Given the description of an element on the screen output the (x, y) to click on. 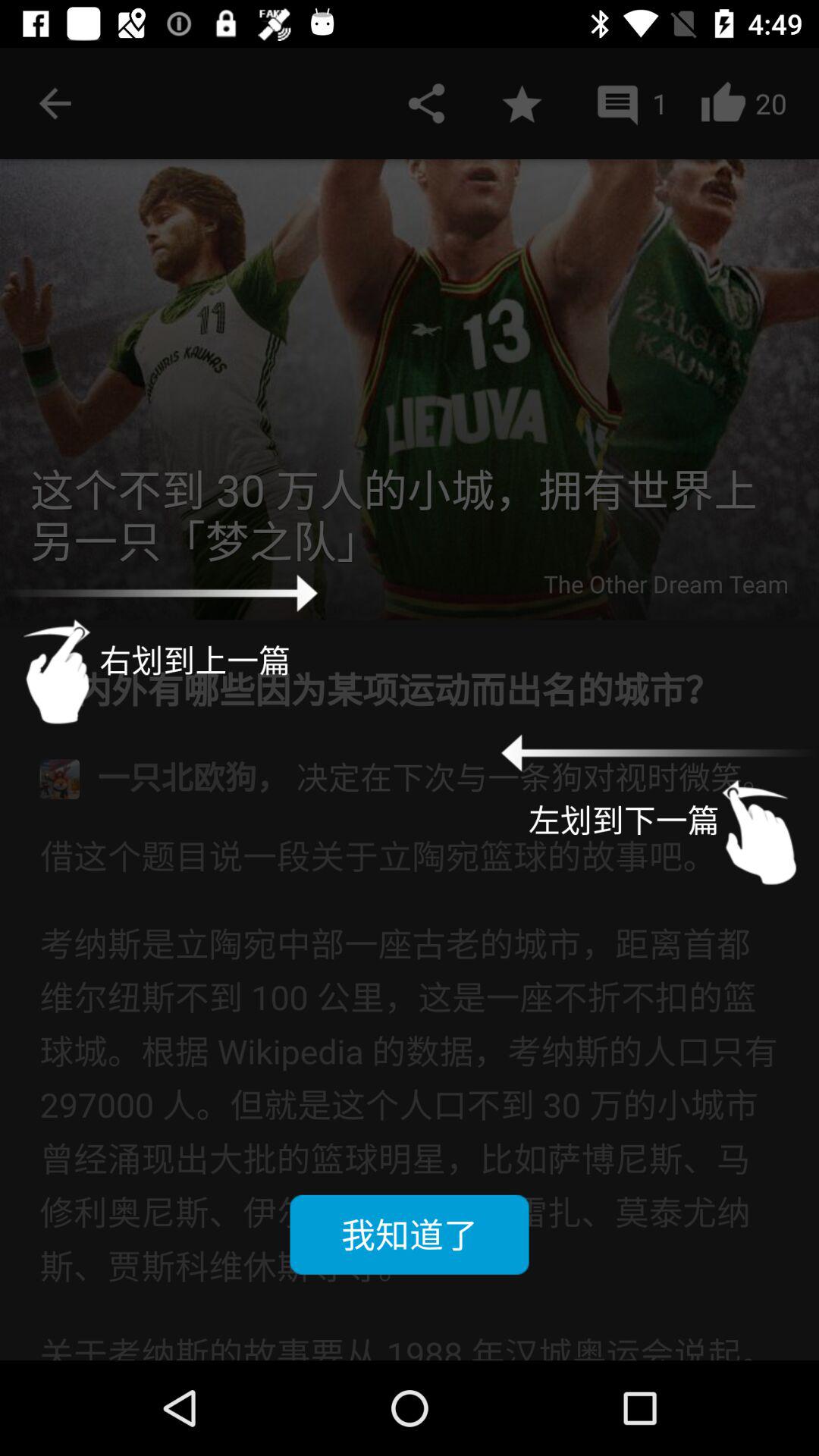
share icon (426, 103)
